Given the description of an element on the screen output the (x, y) to click on. 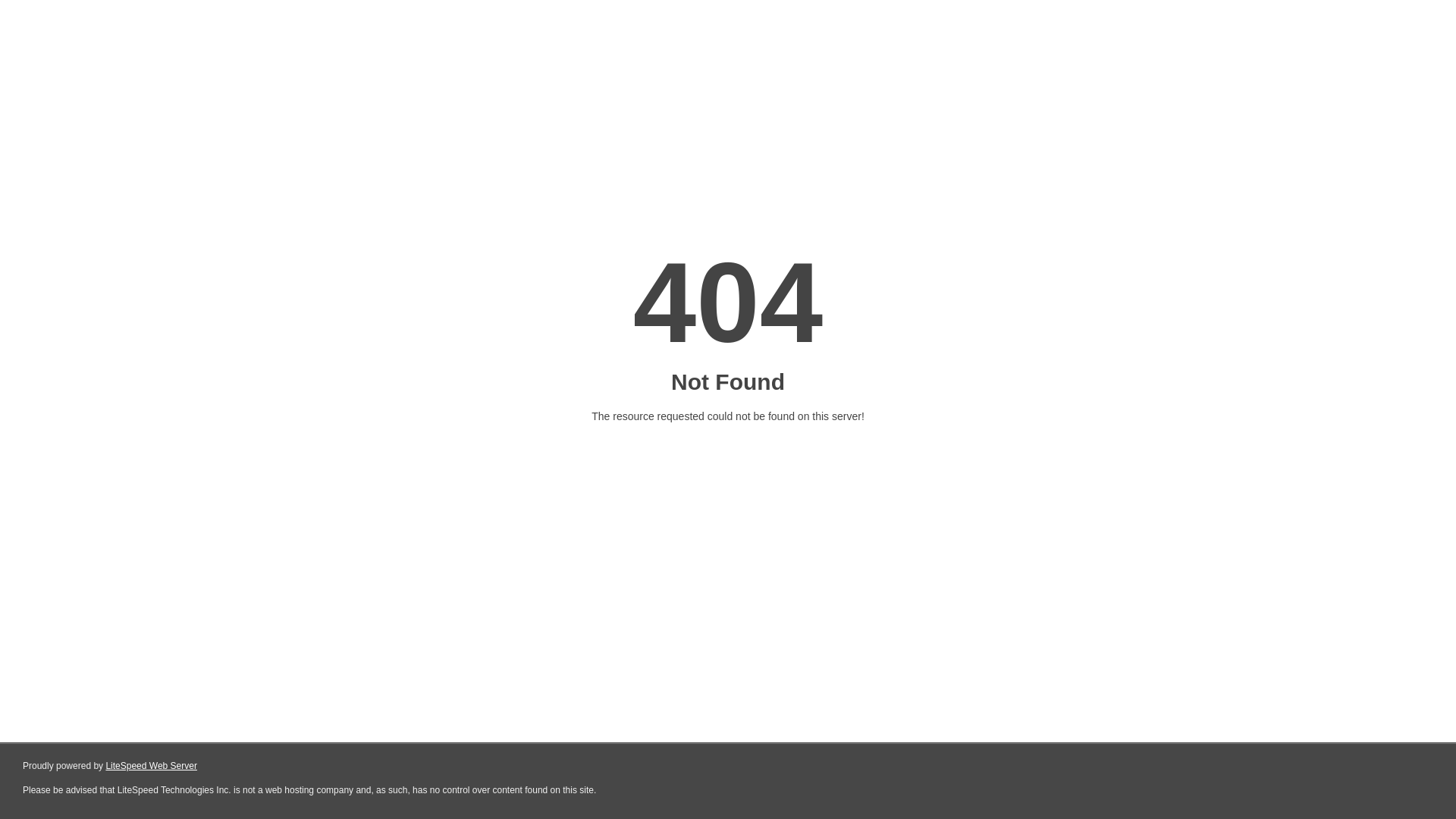
LiteSpeed Web Server Element type: text (151, 765)
